Given the description of an element on the screen output the (x, y) to click on. 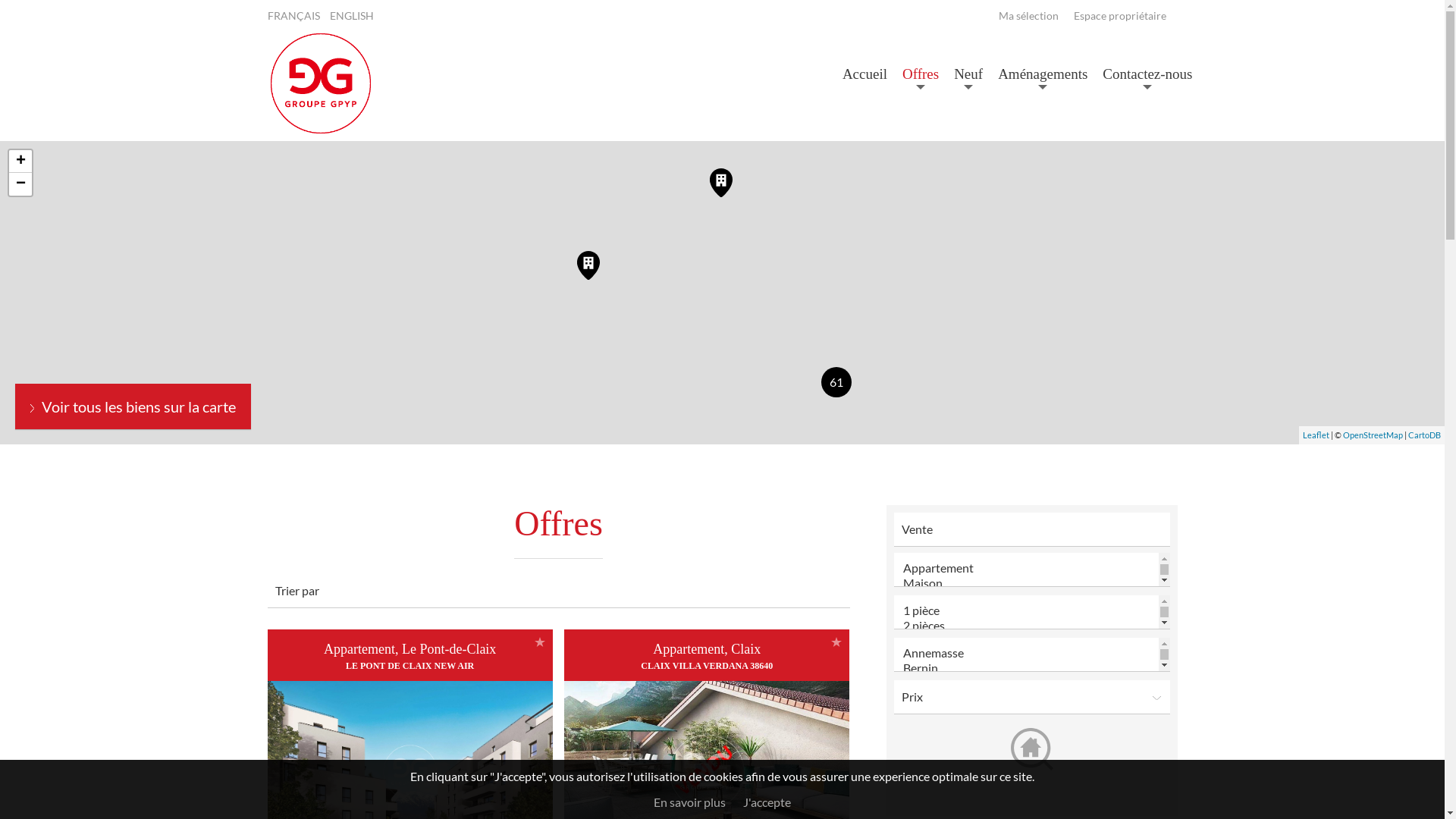
GROUPE G.P.Y.P Element type: hover (319, 131)
J'accepte Element type: text (766, 802)
Neuf Element type: text (967, 74)
Rechercher Element type: text (1031, 749)
Leaflet Element type: text (1315, 434)
+ Element type: text (20, 161)
En savoir plus Element type: text (689, 802)
Accueil Element type: text (864, 74)
Voir tous les biens sur la carte Element type: text (133, 406)
CartoDB Element type: text (1424, 434)
Offres Element type: text (920, 74)
Contactez-nous Element type: text (1147, 74)
OpenStreetMap Element type: text (1372, 434)
ENGLISH Element type: text (351, 15)
